Given the description of an element on the screen output the (x, y) to click on. 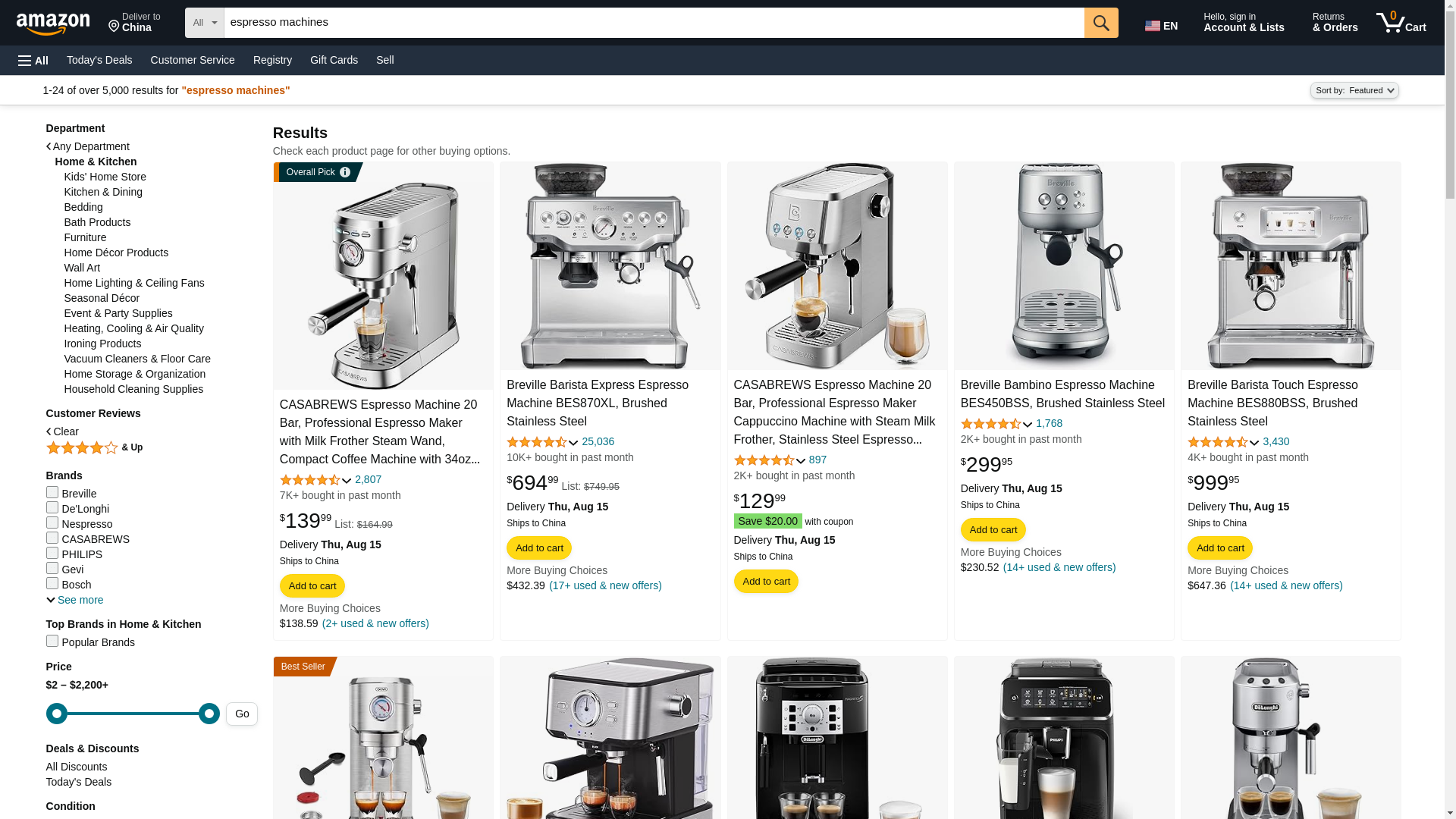
Add to cart (765, 581)
897 (818, 460)
EN (1163, 22)
Sell (384, 59)
espresso machines (654, 22)
Registry (272, 59)
Go (1401, 22)
Skip to main content (1101, 22)
Add to cart (60, 21)
Go (538, 547)
25,036 (1101, 22)
0 (598, 441)
